Given the description of an element on the screen output the (x, y) to click on. 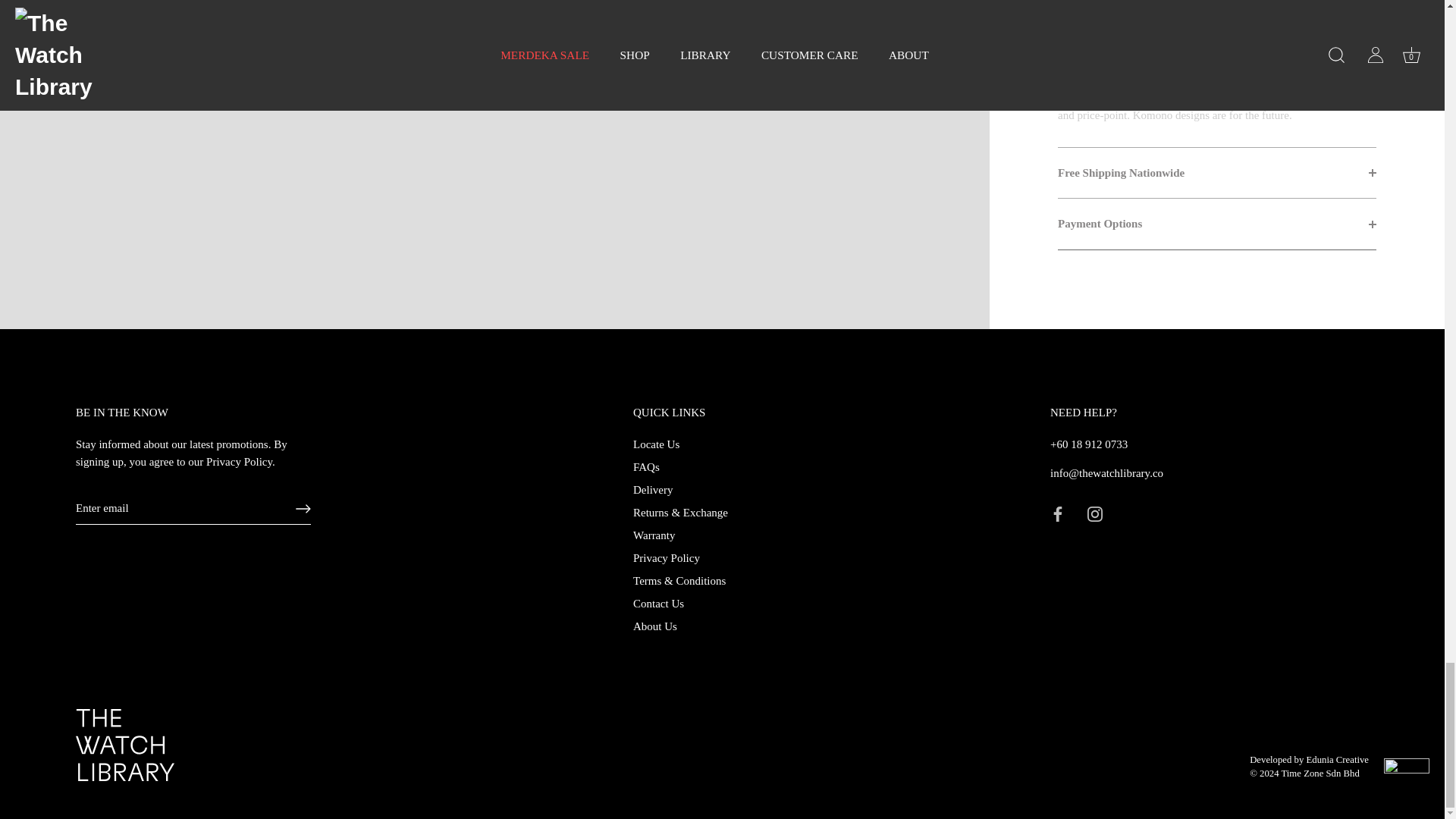
RIGHT ARROW LONG (303, 508)
Privacy Policy (239, 461)
Instagram (1094, 513)
